Given the description of an element on the screen output the (x, y) to click on. 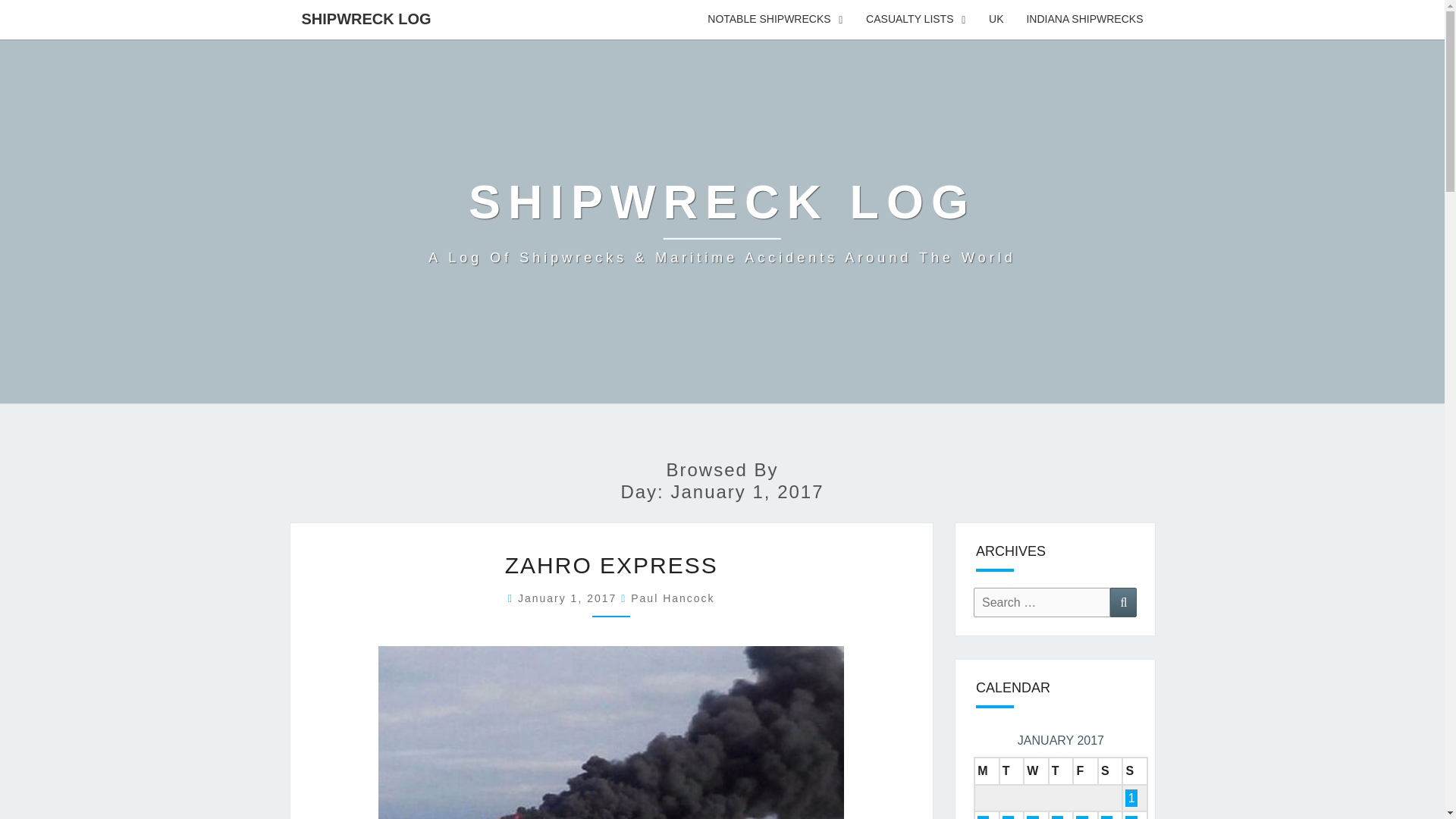
January 1, 2017 (569, 598)
CASUALTY LISTS (915, 19)
View all posts by Paul Hancock (672, 598)
9:28 pm (569, 598)
NOTABLE SHIPWRECKS (774, 19)
ZAHRO EXPRESS (611, 565)
Paul Hancock (672, 598)
Shipwreck Log (722, 221)
INDIANA SHIPWRECKS (1084, 19)
SHIPWRECK LOG (365, 18)
UK (995, 19)
